Given the description of an element on the screen output the (x, y) to click on. 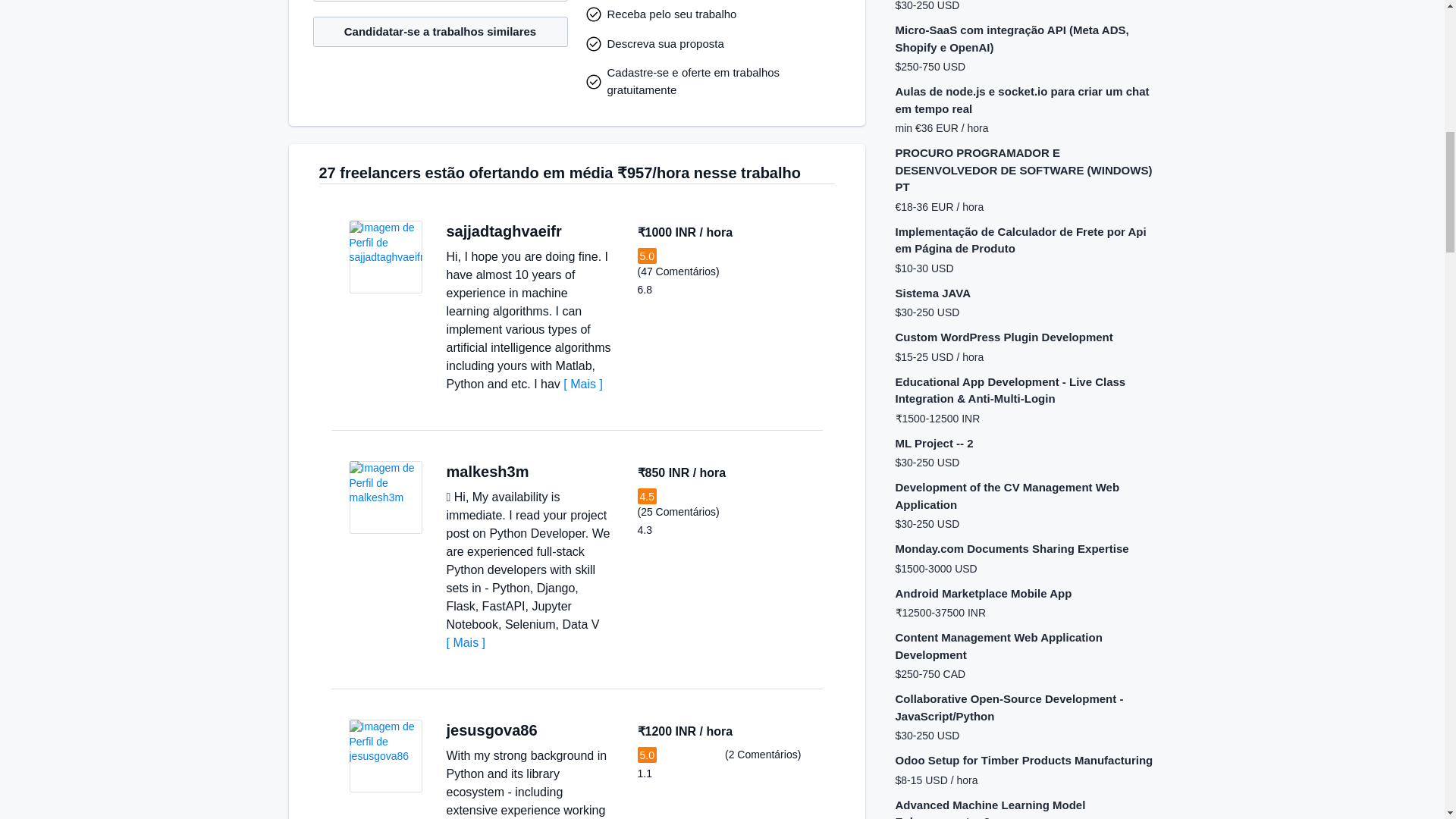
Veja o Perfil de malkesh3m (385, 497)
Mais (464, 642)
Mais (582, 383)
jesusgova86 (491, 729)
Japan (577, 231)
malkesh3m (486, 471)
Veja o Perfil de jesusgova86 (385, 755)
sajjadtaghvaeifr (502, 230)
Veja o Perfil de sajjadtaghvaeifr (385, 256)
Candidatar-se a trabalhos similares (440, 31)
